Given the description of an element on the screen output the (x, y) to click on. 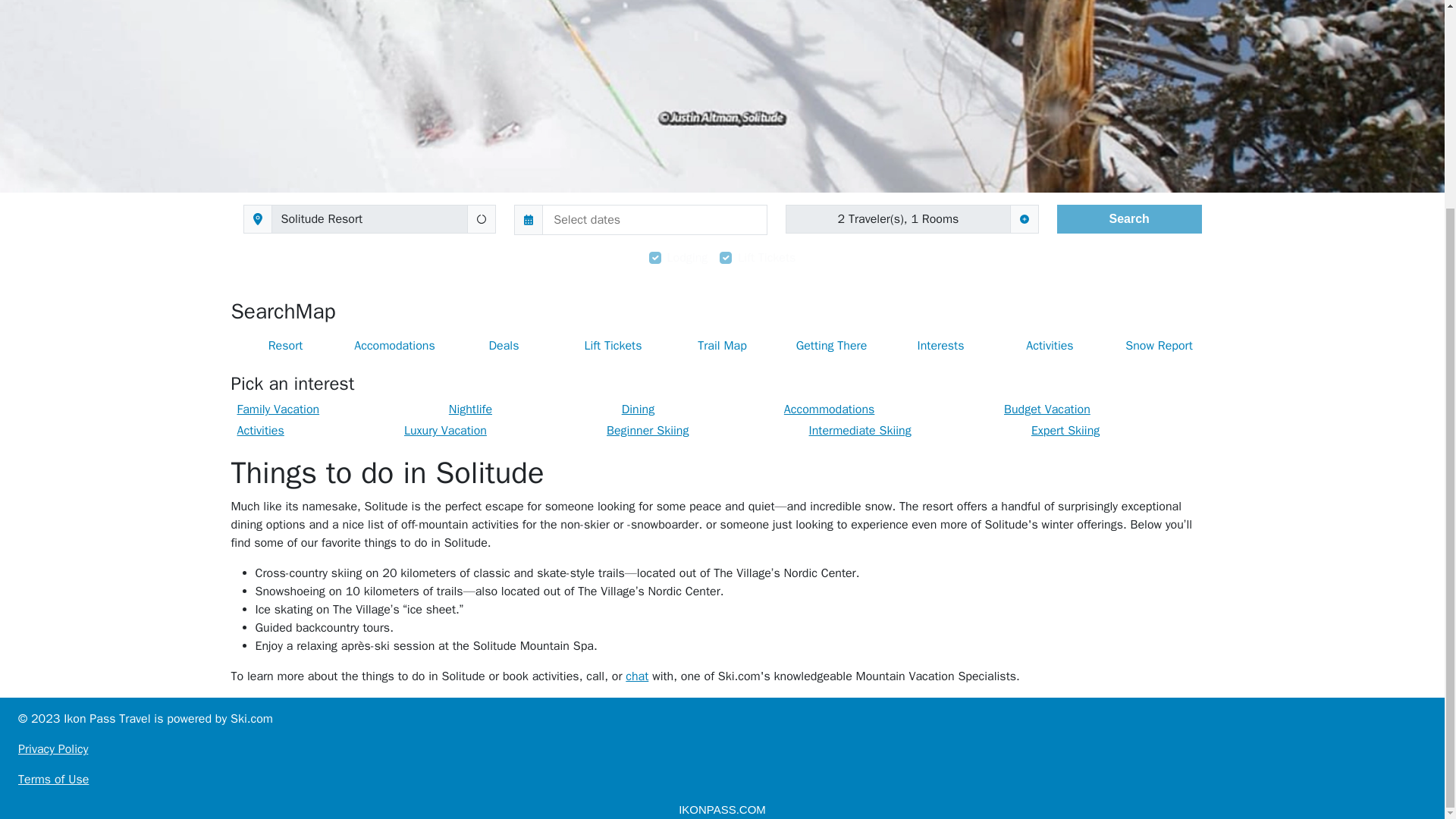
Privacy Policy (721, 749)
on (725, 257)
Activities (259, 430)
Getting There (830, 345)
Expert Skiing (1065, 430)
Trail Map (721, 345)
Lift Tickets (611, 345)
Family Vacation (277, 409)
Snow Report (1157, 345)
Deals (502, 345)
